Given the description of an element on the screen output the (x, y) to click on. 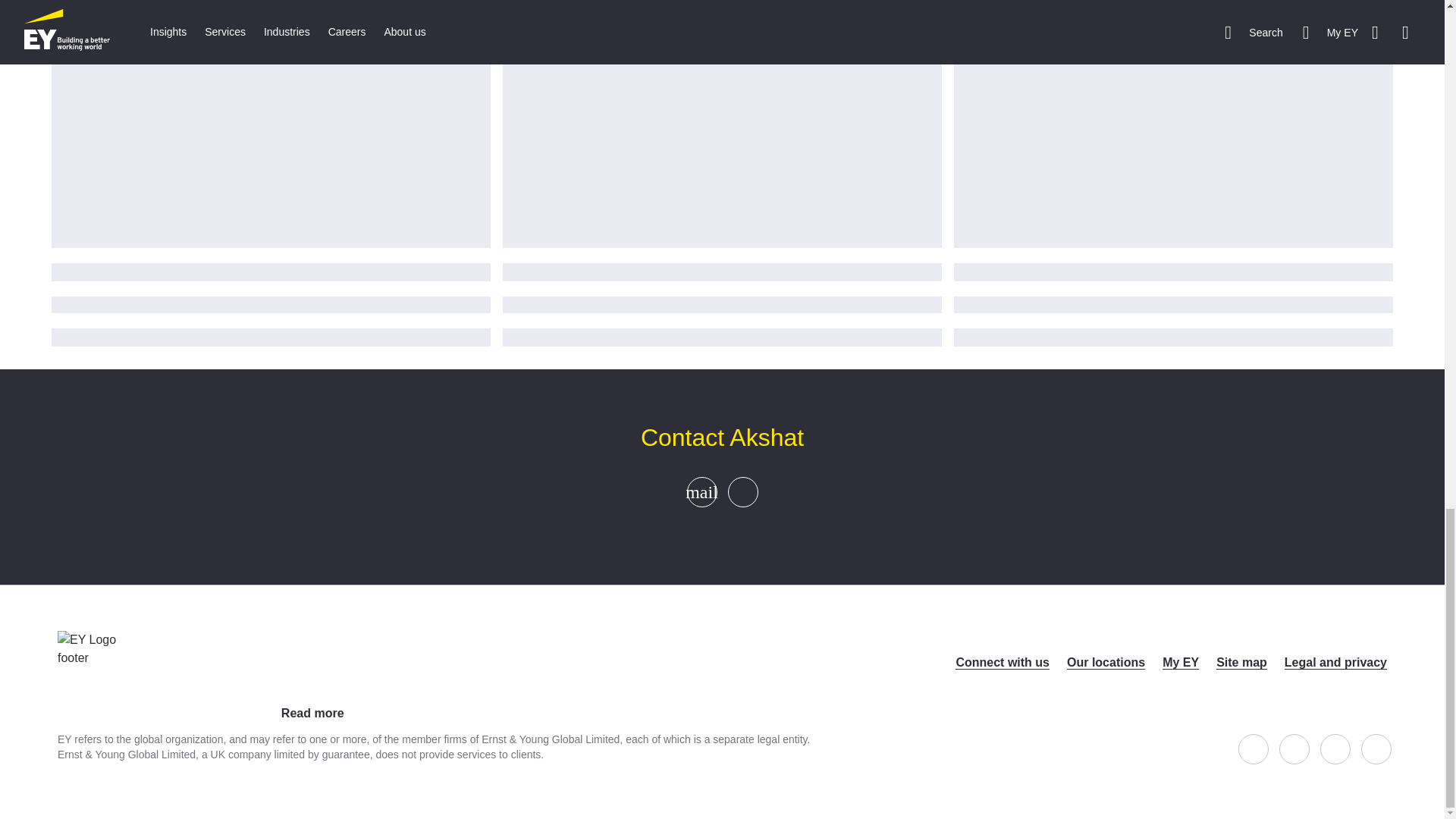
Open X profile (1294, 748)
Open Facebook profile (1252, 748)
EY Logo (90, 668)
Open LinkedIn profile (1335, 748)
Send e-mail to Akshat Dubey (701, 492)
Open Youtube profile (1376, 748)
Open LinkedIn profile of Akshat Dubey (743, 491)
